Given the description of an element on the screen output the (x, y) to click on. 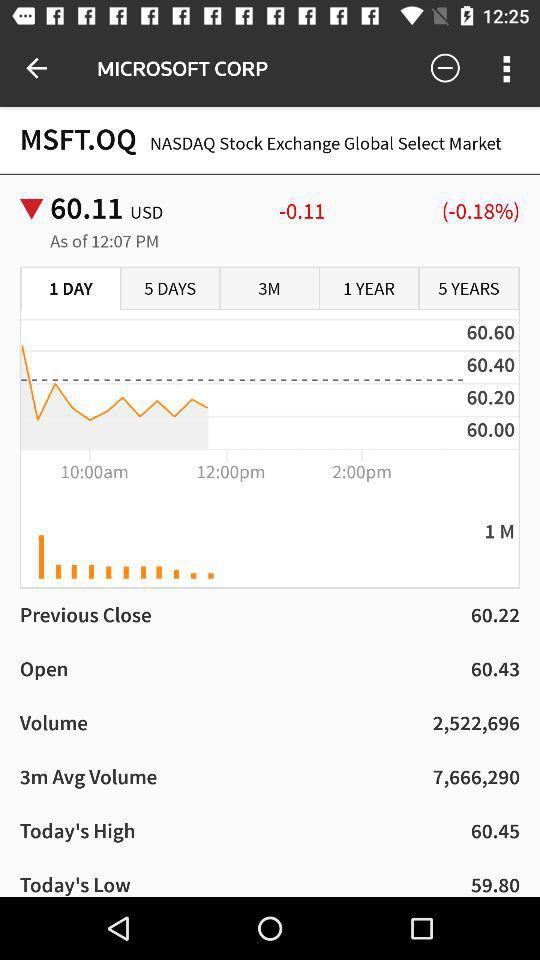
launch 1 day icon (71, 289)
